Given the description of an element on the screen output the (x, y) to click on. 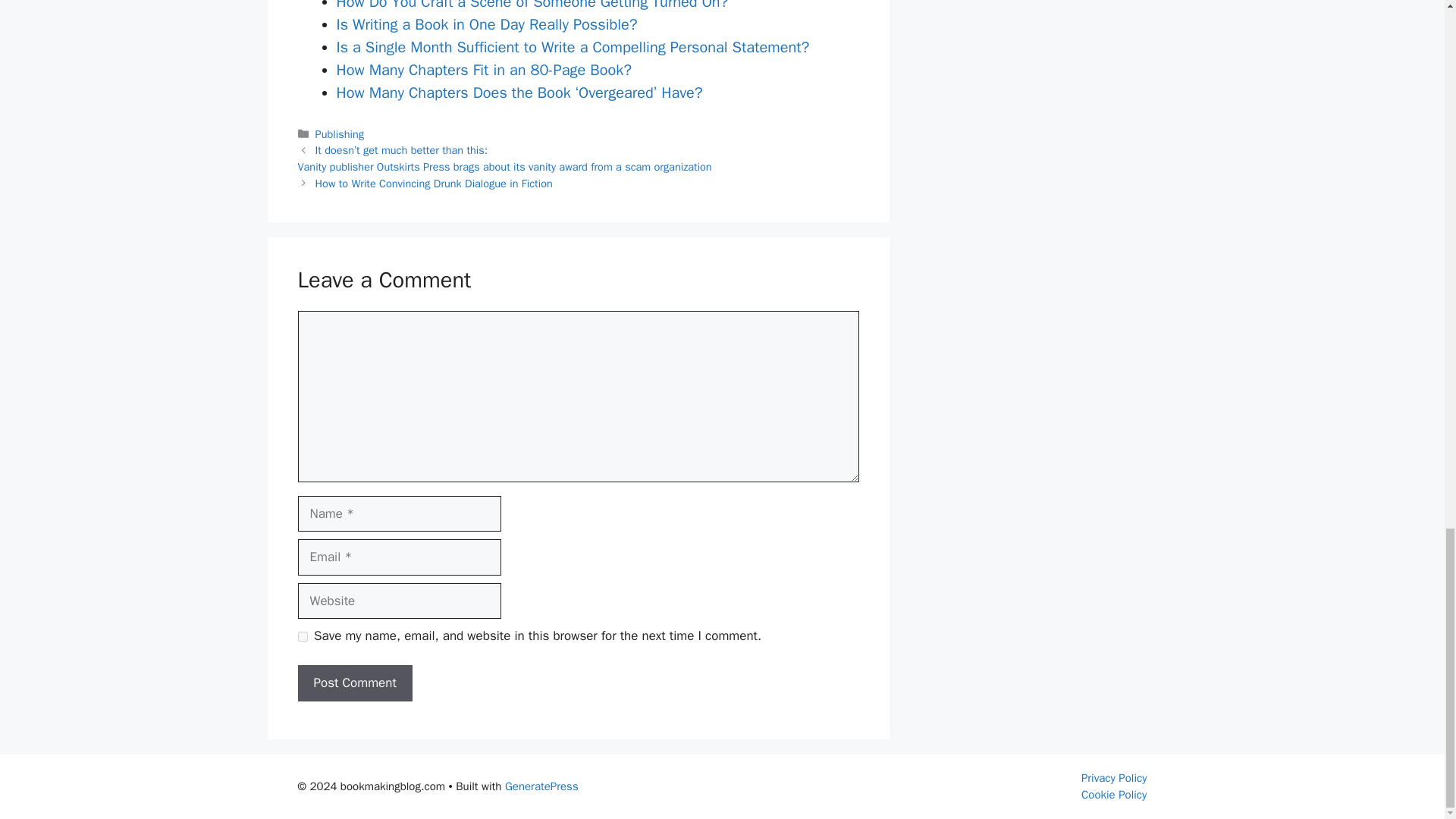
How to Write Convincing Drunk Dialogue in Fiction (434, 183)
yes (302, 636)
GeneratePress (541, 786)
Post Comment (354, 683)
How Many Chapters Fit in an 80-Page Book? (483, 69)
Publishing (339, 133)
Privacy Policy (1114, 777)
Cookie Policy (1114, 794)
Cookie Policy  (1114, 794)
Privacy Policy  (1114, 777)
